Given the description of an element on the screen output the (x, y) to click on. 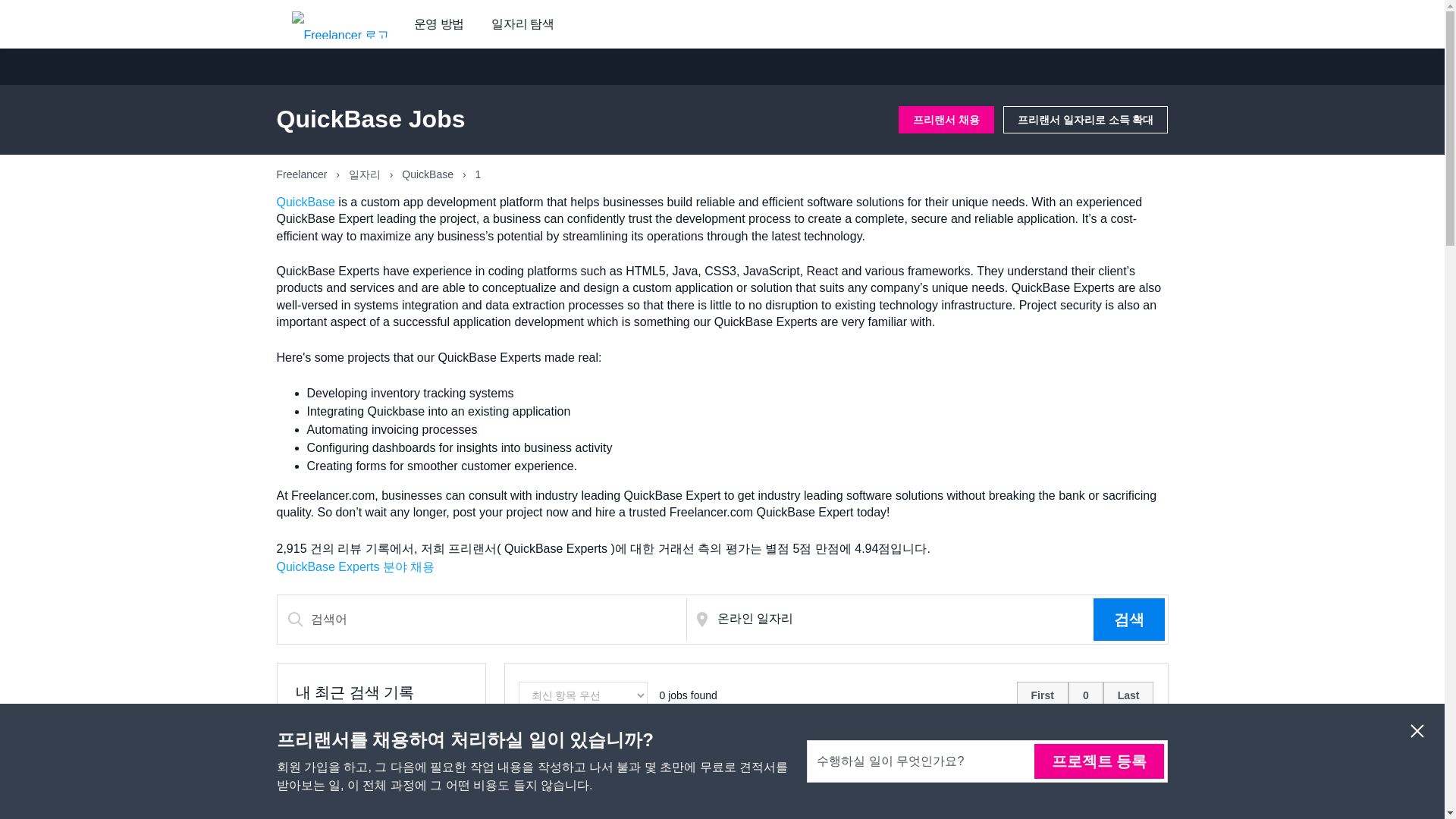
First (1056, 759)
0 (1085, 695)
First (1042, 695)
Last (1128, 695)
Last (1143, 759)
QuickBase (305, 201)
QuickBase (429, 174)
0 (1100, 759)
Freelancer (303, 174)
